Given the description of an element on the screen output the (x, y) to click on. 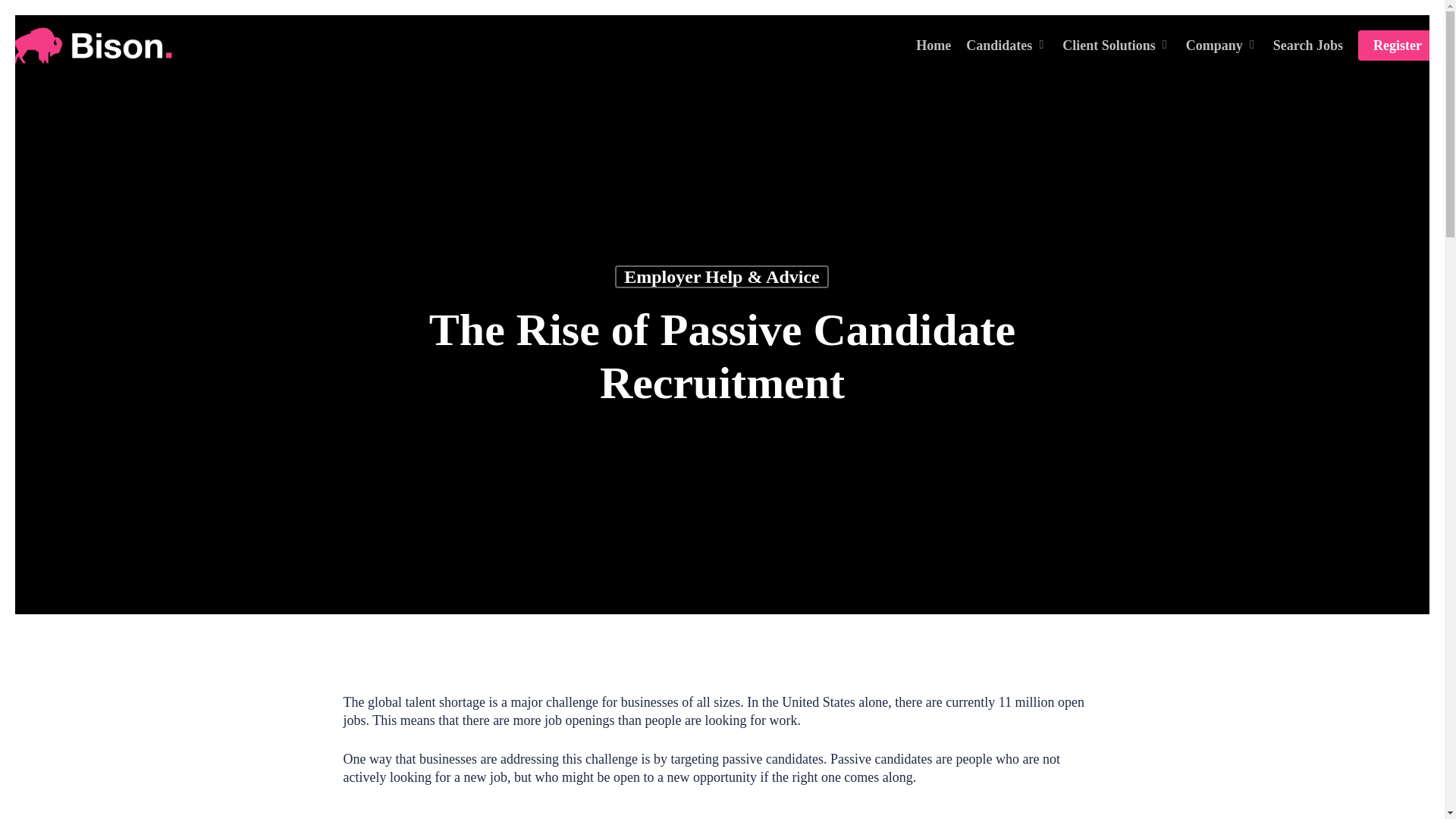
Register (1397, 45)
Candidates (1006, 45)
Client Solutions (1116, 45)
Company (1221, 45)
Home (932, 45)
targeting passive candidates (668, 813)
Search Jobs (1307, 45)
